Given the description of an element on the screen output the (x, y) to click on. 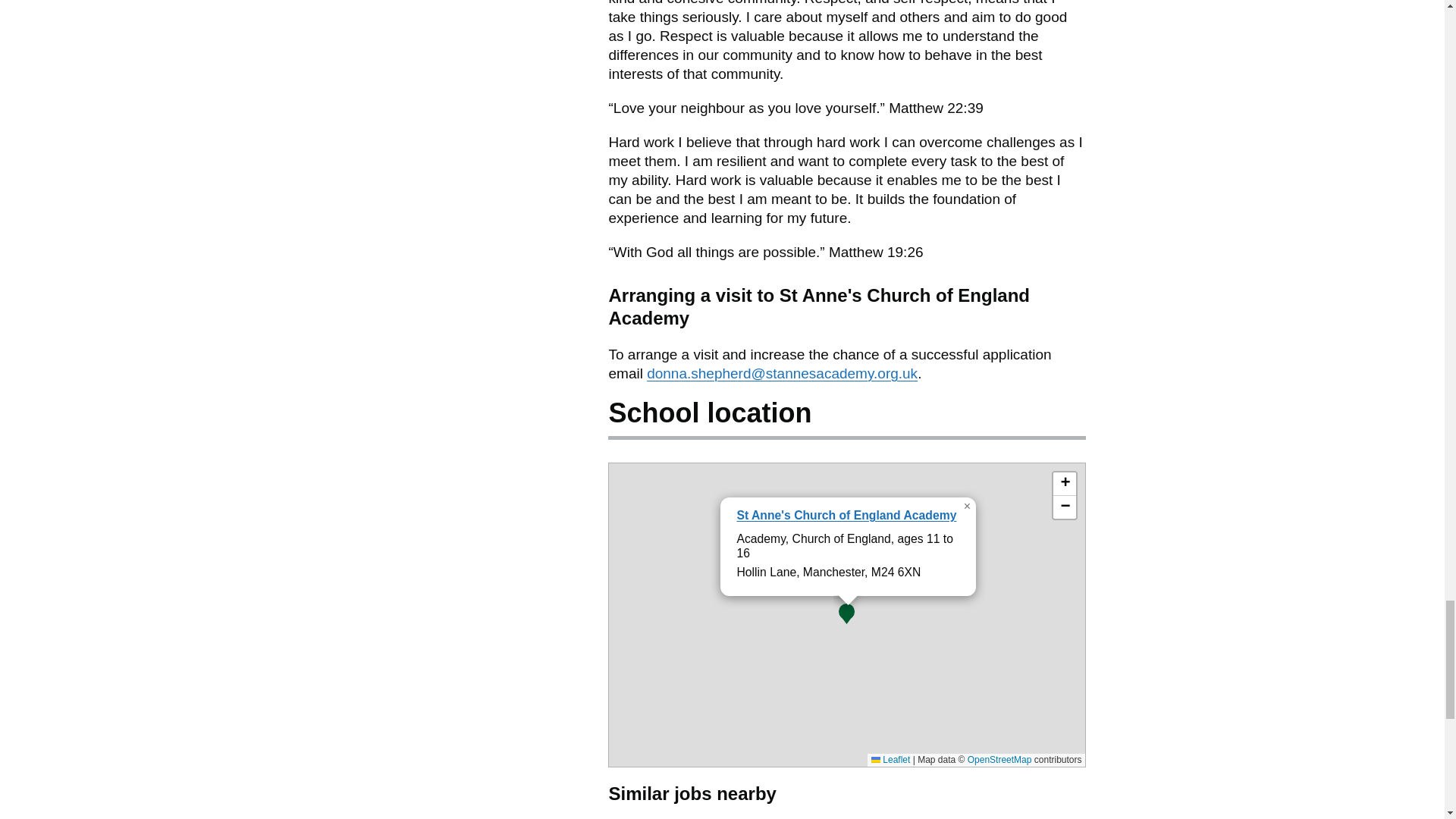
St Anne's Church of England Academy (846, 514)
OpenStreetMap (1000, 759)
Zoom out (1063, 507)
Leaflet (890, 759)
Zoom in (1063, 484)
A JavaScript library for interactive maps (890, 759)
